Given the description of an element on the screen output the (x, y) to click on. 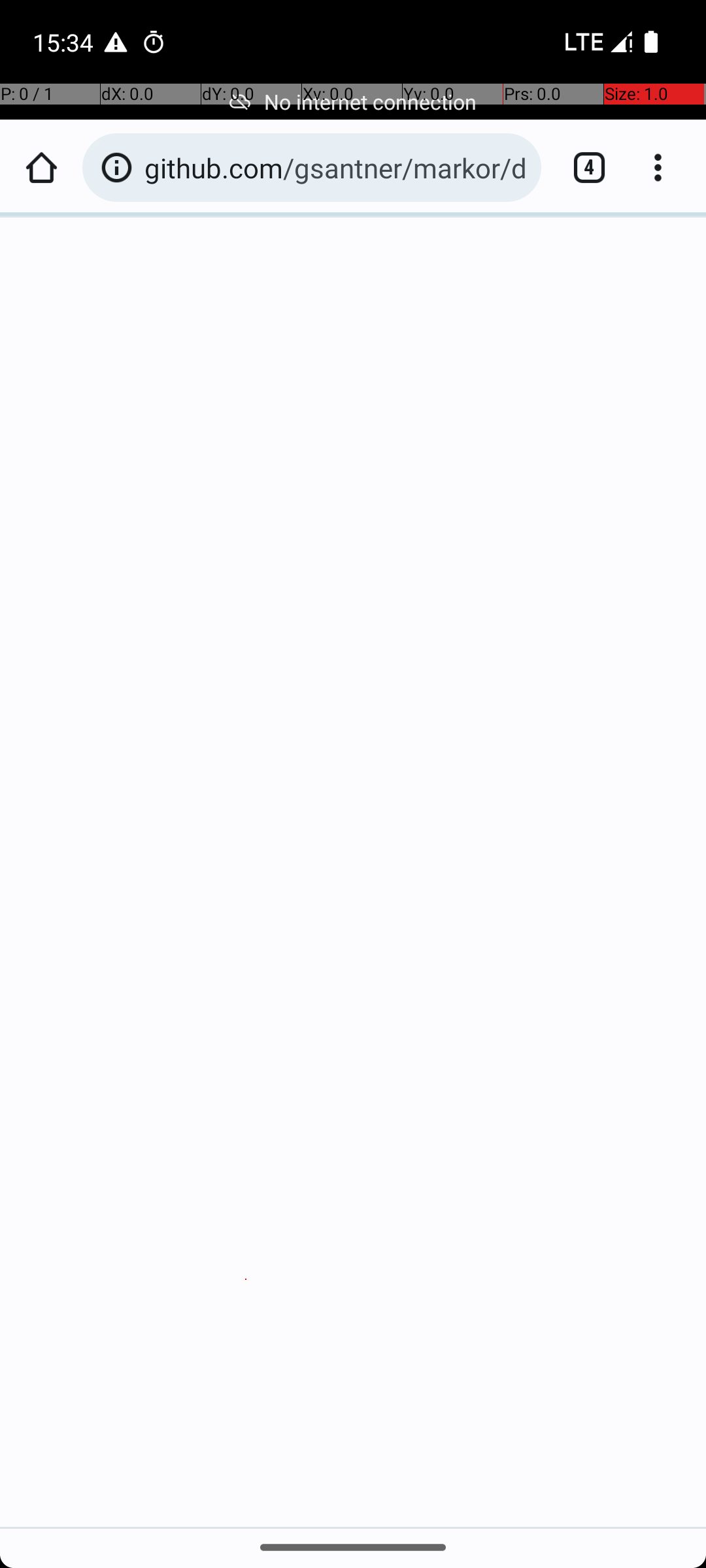
github.com/gsantner/markor/discussions Element type: android.widget.EditText (335, 167)
